Given the description of an element on the screen output the (x, y) to click on. 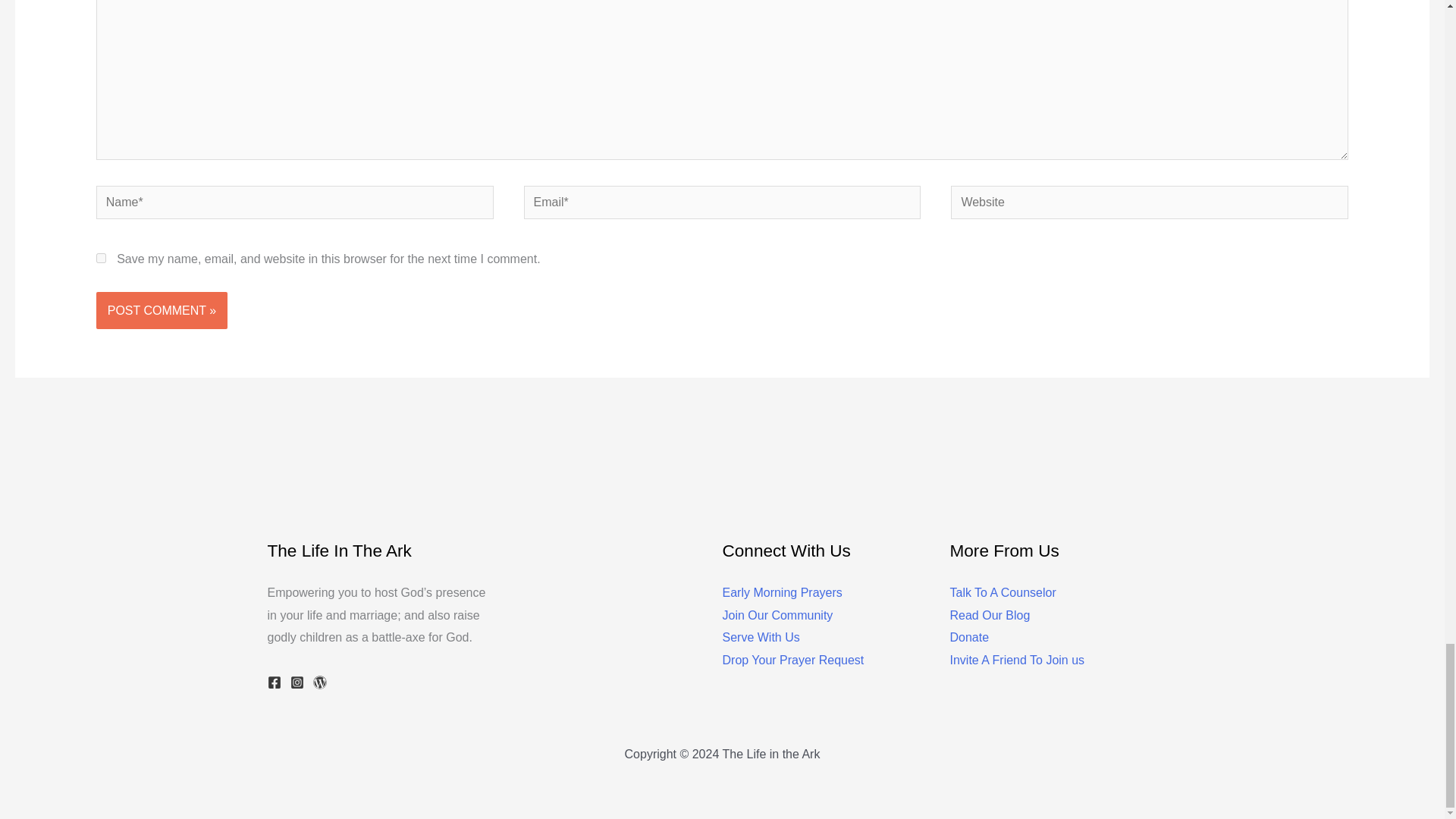
Donate (968, 636)
Early Morning Prayers (781, 592)
Drop Your Prayer Request (792, 659)
Serve With Us (760, 636)
Invite A Friend To Join us (1016, 659)
Join Our Community (777, 615)
yes (101, 257)
Read Our Blog (989, 615)
Talk To A Counselor (1002, 592)
